Given the description of an element on the screen output the (x, y) to click on. 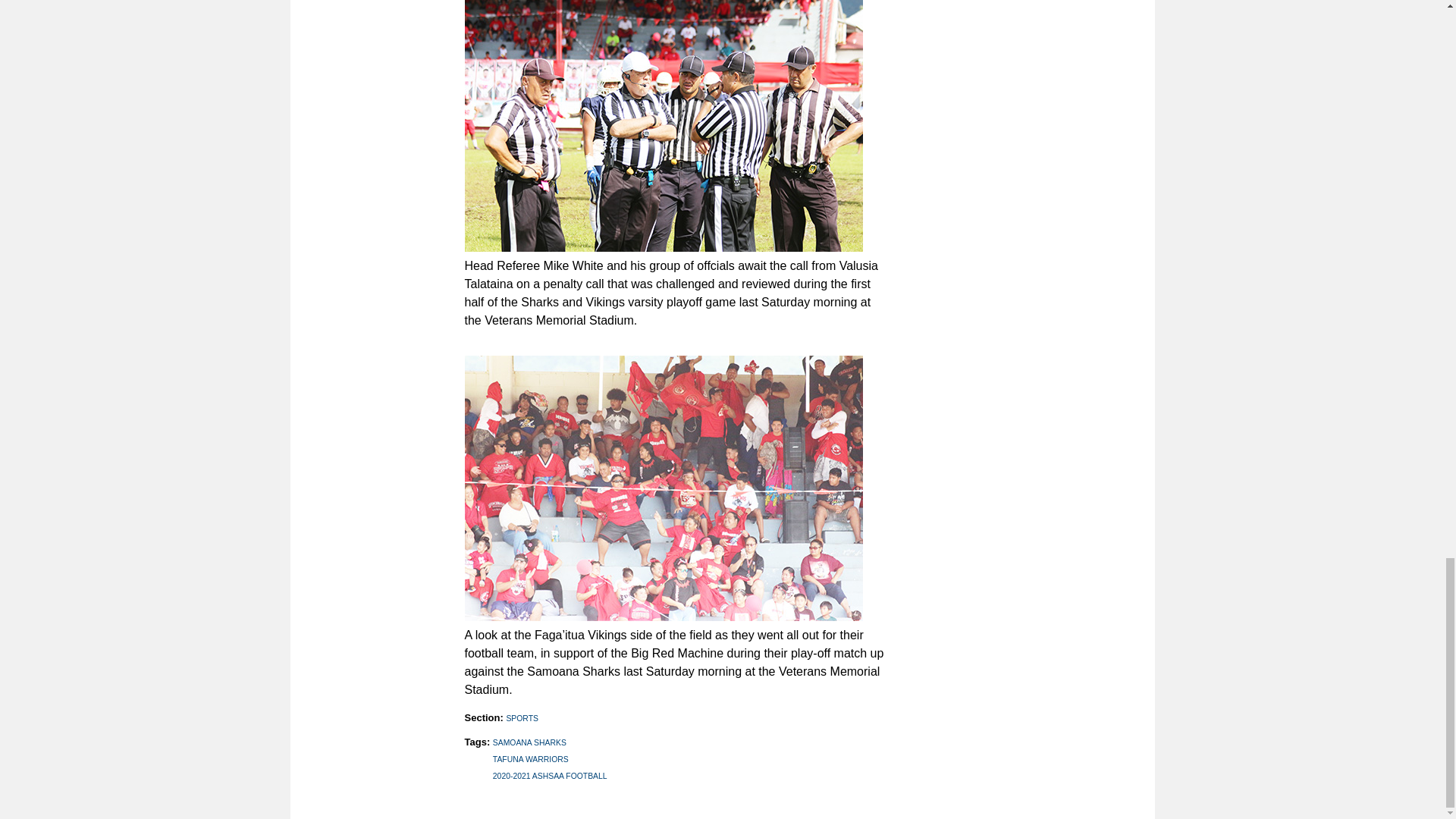
SAMOANA SHARKS (529, 742)
TAFUNA WARRIORS (531, 759)
SPORTS (521, 718)
2020-2021 ASHSAA FOOTBALL (550, 776)
